Given the description of an element on the screen output the (x, y) to click on. 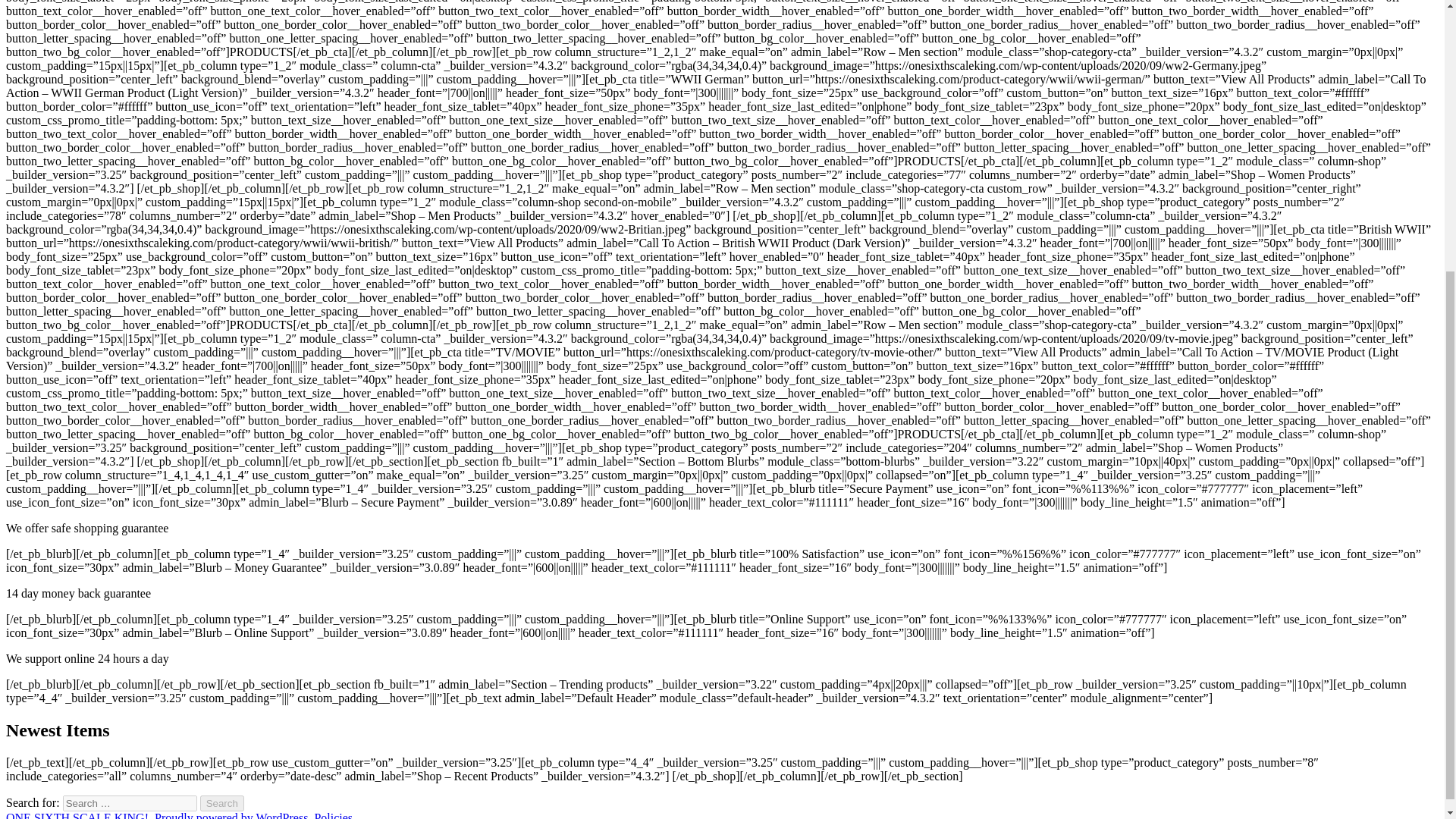
Search (222, 803)
Search (222, 803)
Search (222, 803)
